Given the description of an element on the screen output the (x, y) to click on. 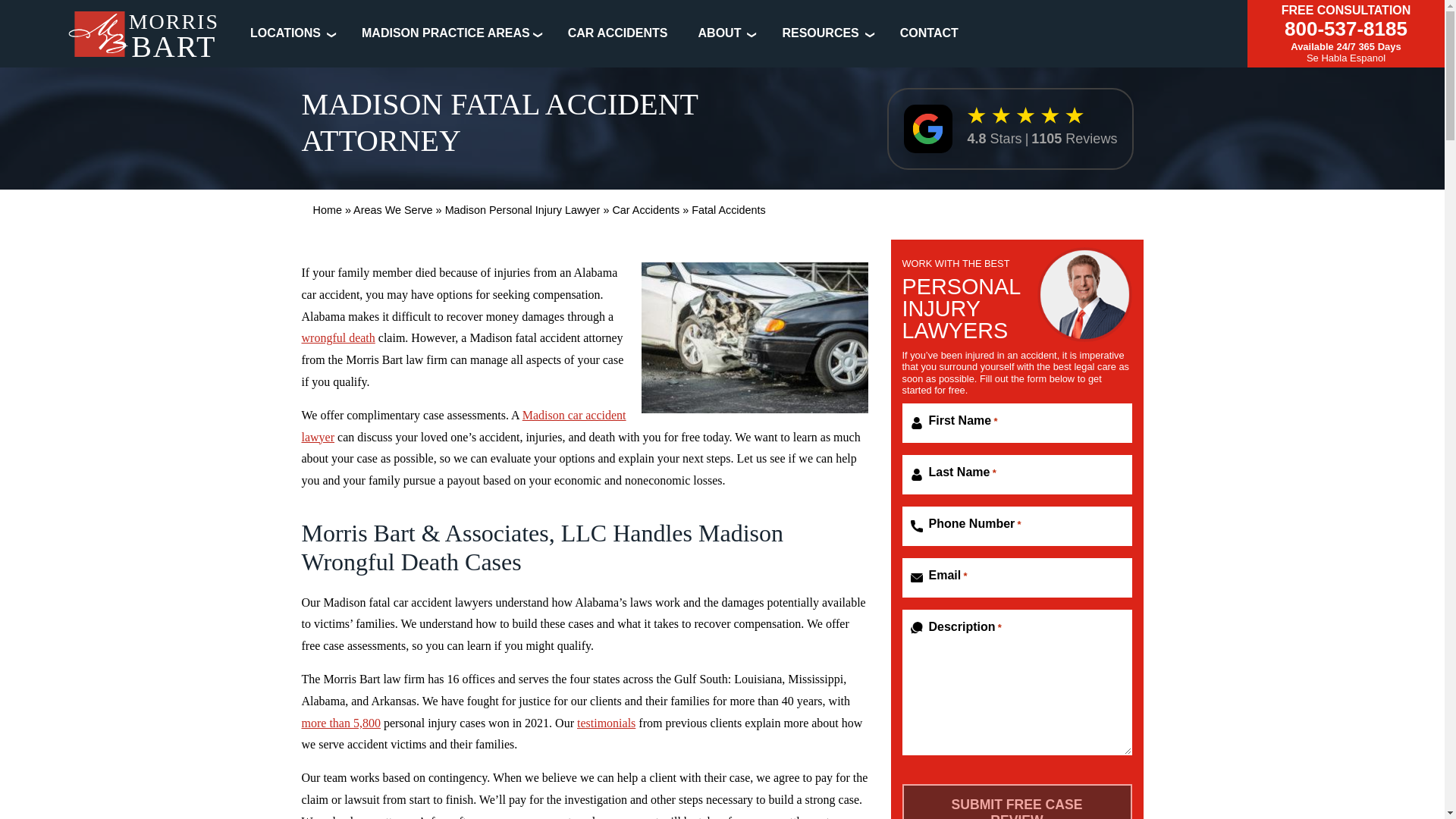
MORRISBART (143, 37)
CAR ACCIDENTS (617, 32)
LOCATIONS (285, 32)
Submit Free Case Review (1017, 801)
MADISON PRACTICE AREAS (445, 32)
